Given the description of an element on the screen output the (x, y) to click on. 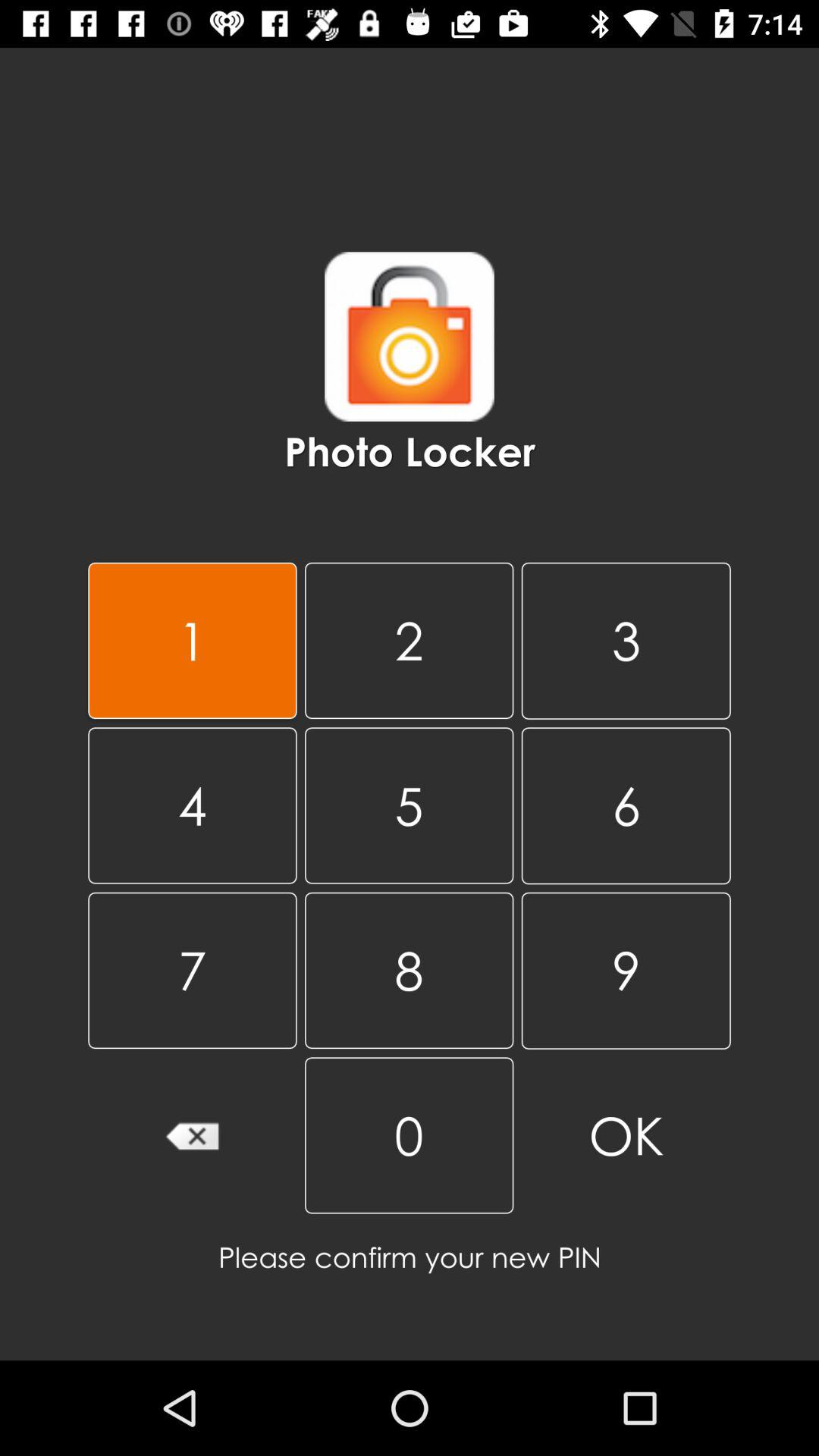
turn on the icon below the 3 icon (408, 805)
